Given the description of an element on the screen output the (x, y) to click on. 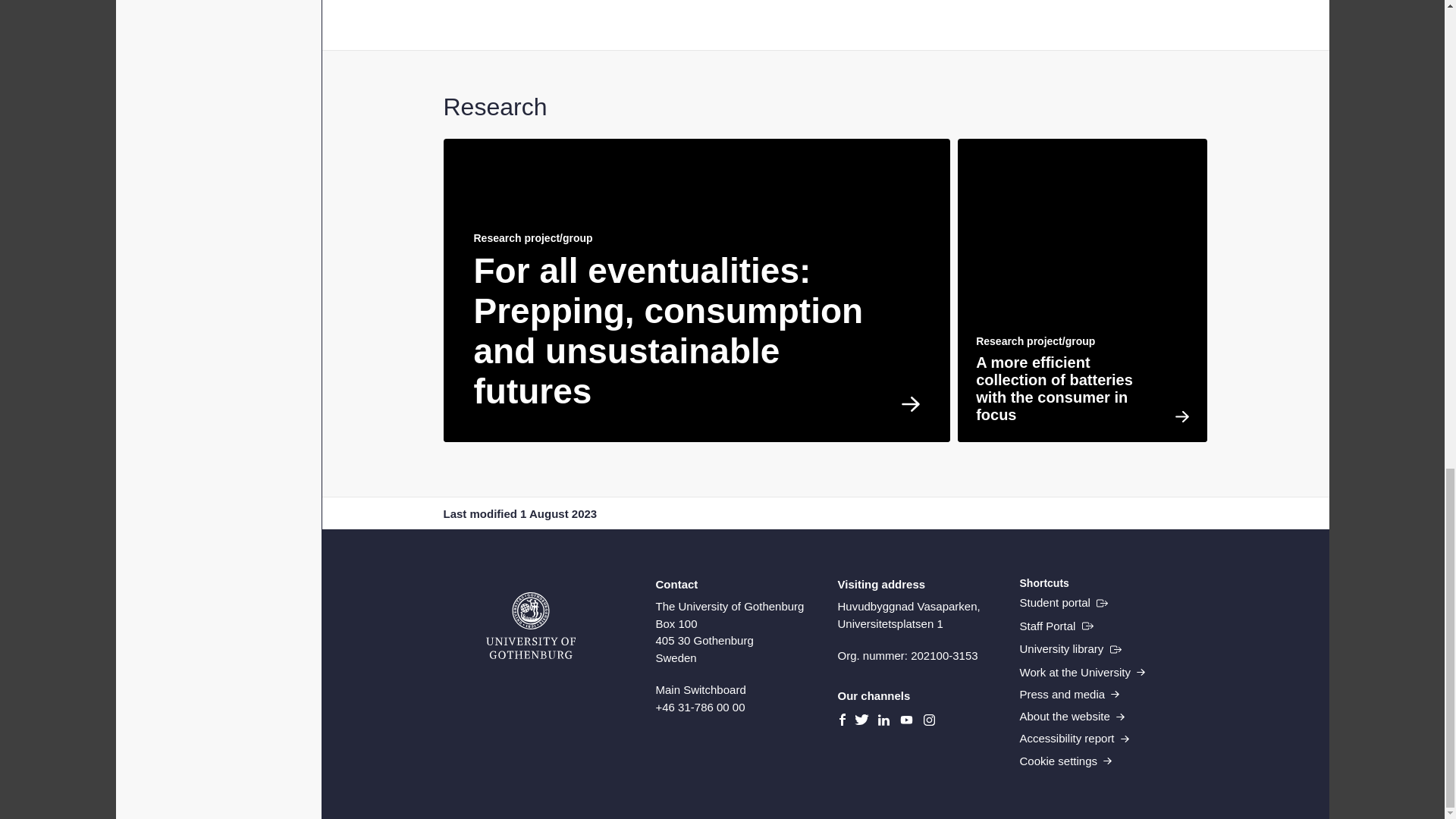
External link (1056, 626)
External link (1070, 649)
External link (1063, 602)
